Given the description of an element on the screen output the (x, y) to click on. 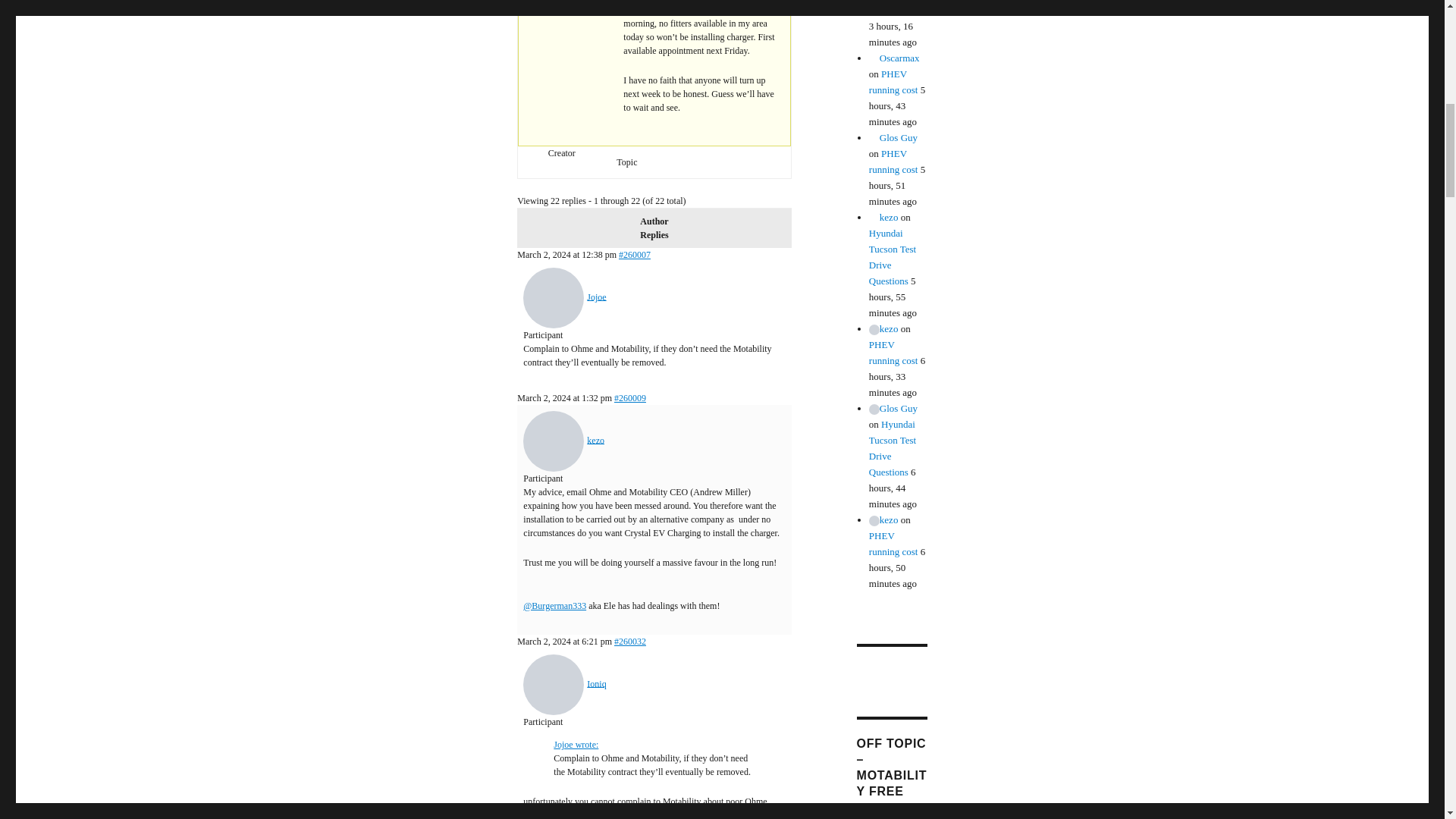
View Ioniq's profile (563, 683)
Jojoe wrote: (575, 744)
View kezo's profile (563, 439)
View Jojoe's profile (563, 296)
Jojoe (563, 296)
Ioniq (563, 683)
kezo (563, 439)
